Given the description of an element on the screen output the (x, y) to click on. 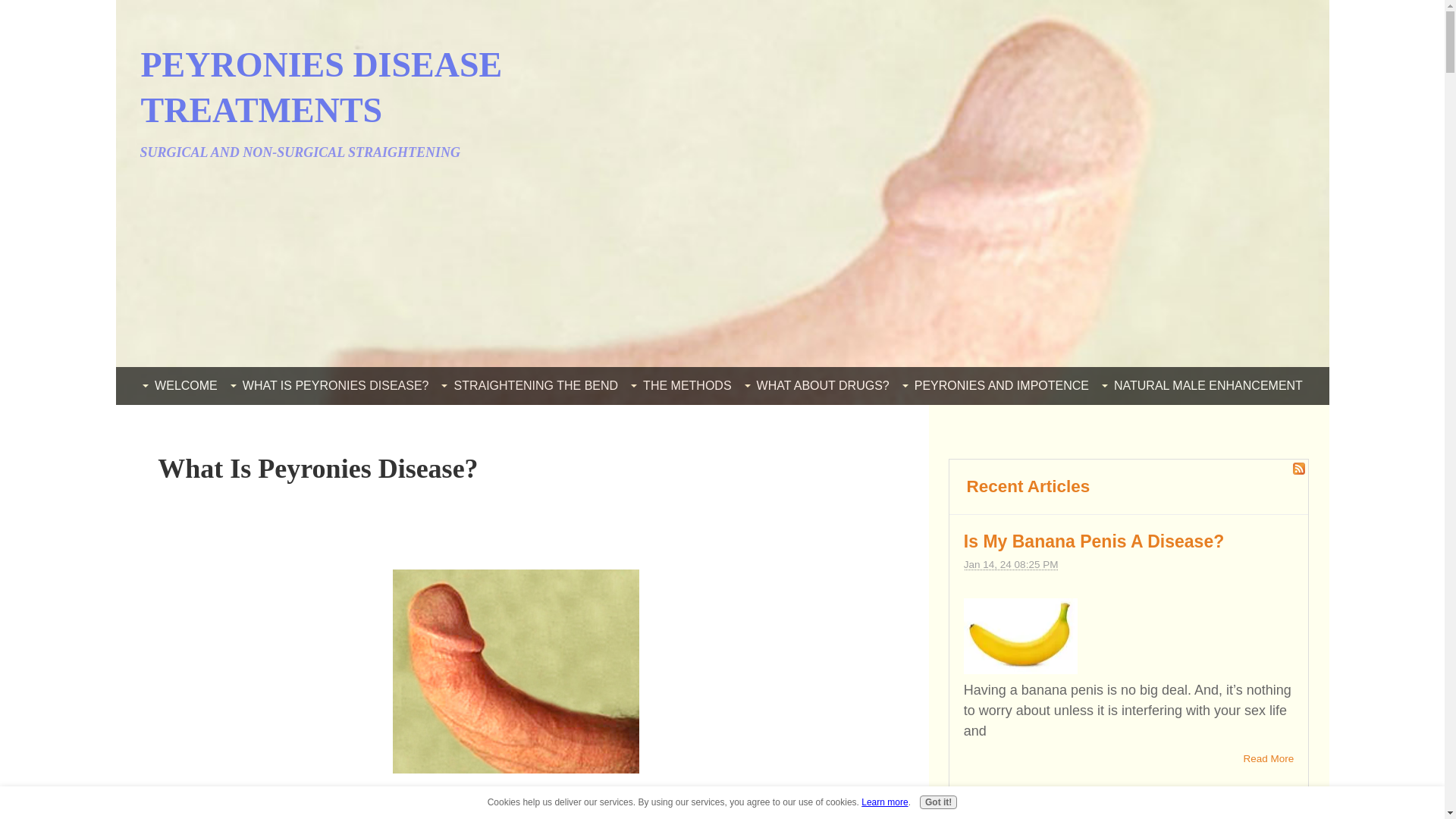
2024-01-14T20:25:30-0500 (1010, 564)
PEYRONIES DISEASE TREATMENTS (321, 87)
what is peyronies disease? (516, 671)
